Given the description of an element on the screen output the (x, y) to click on. 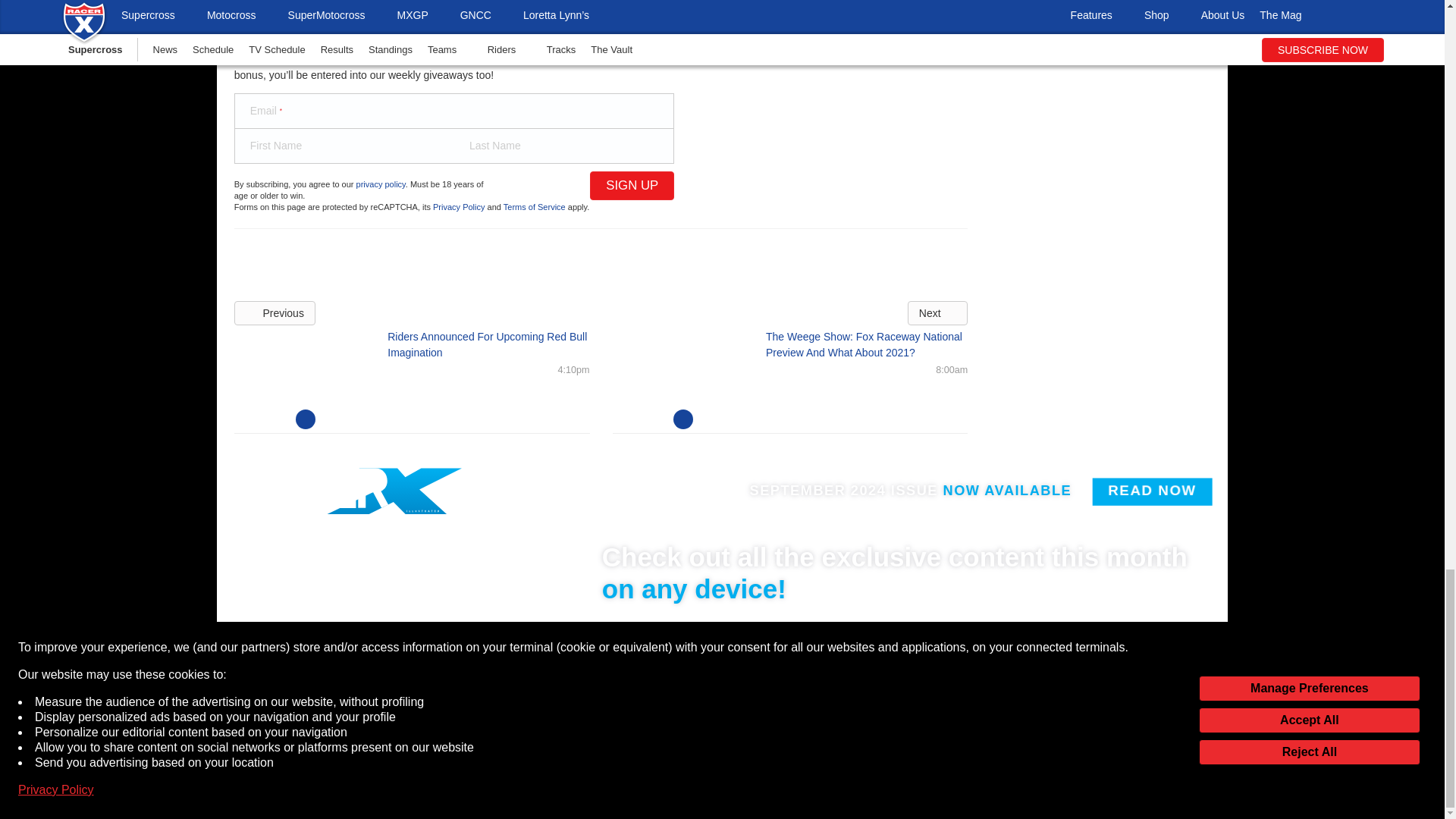
Sign Up (631, 185)
